Given the description of an element on the screen output the (x, y) to click on. 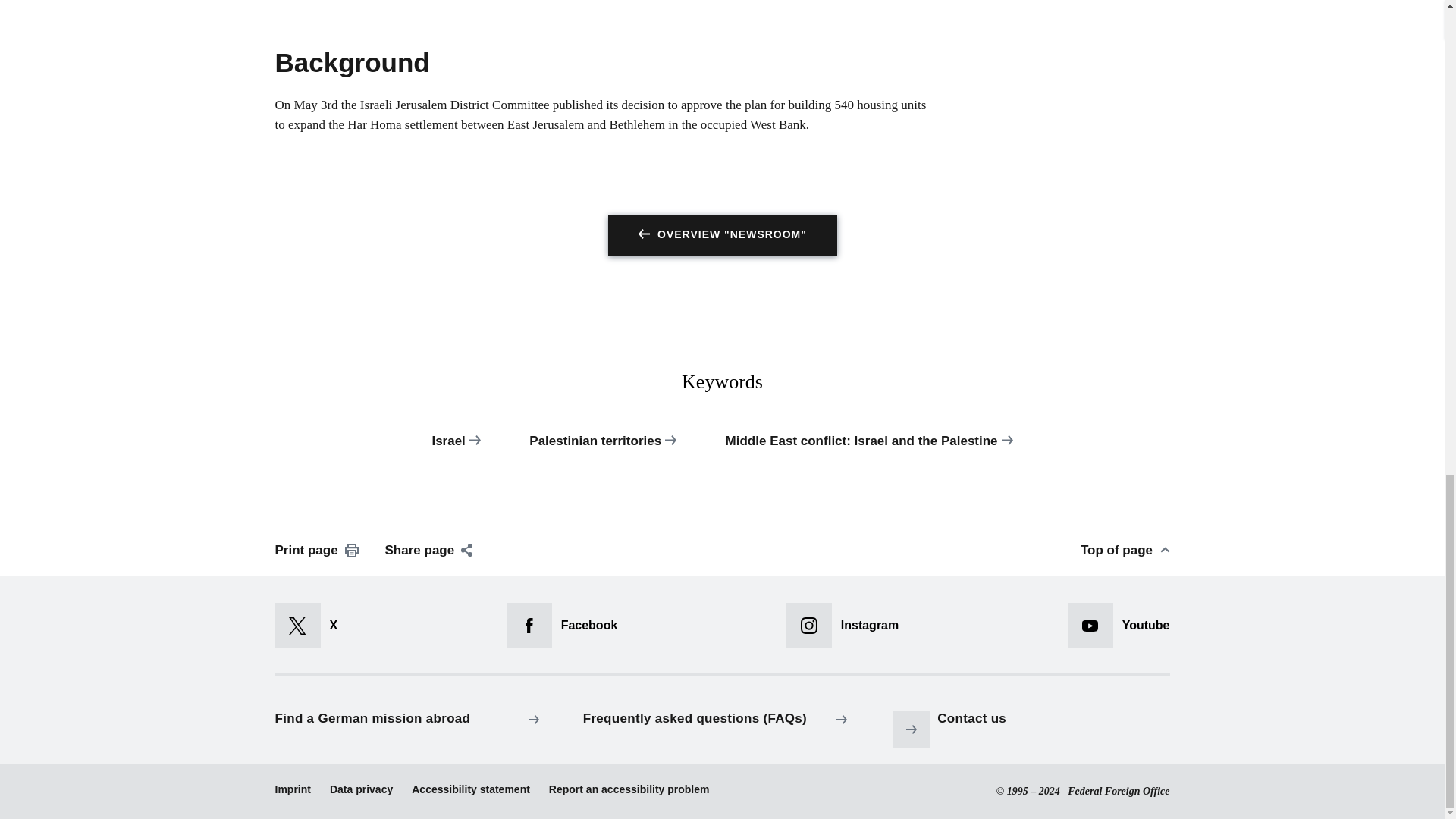
Israel (455, 449)
Print page (316, 550)
Overview Newsroom (722, 234)
Palestinian territories (602, 449)
Middle East conflict: Israel and the Palestine (869, 449)
